Given the description of an element on the screen output the (x, y) to click on. 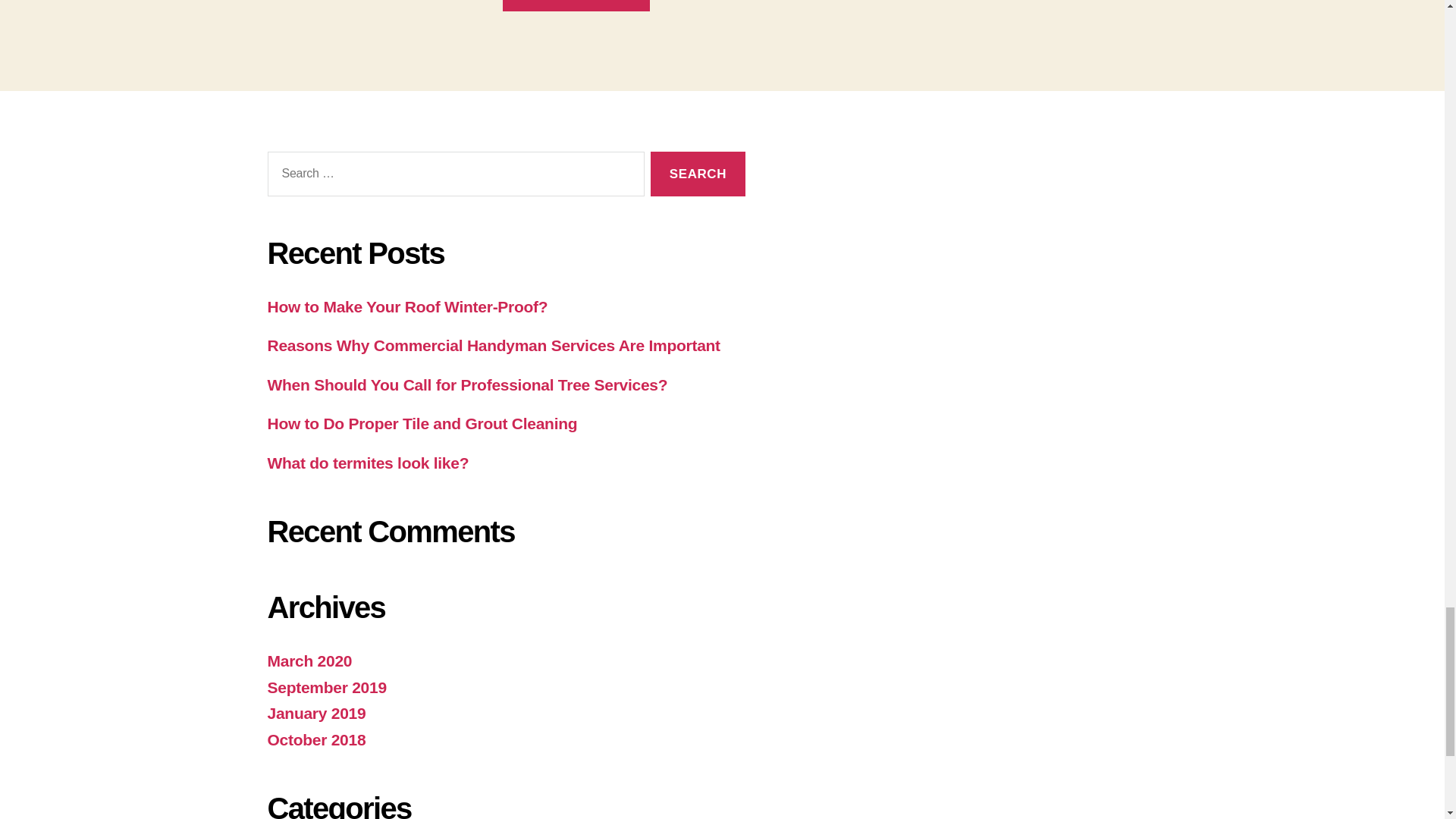
What do termites look like?  (368, 462)
Search (697, 173)
January 2019 (315, 712)
How to Do Proper Tile and Grout Cleaning (421, 423)
Search (697, 173)
March 2020 (309, 660)
How to Make Your Roof Winter-Proof? (406, 306)
When Should You Call for Professional Tree Services? (466, 384)
Search (697, 173)
Post Comment (575, 5)
